Given the description of an element on the screen output the (x, y) to click on. 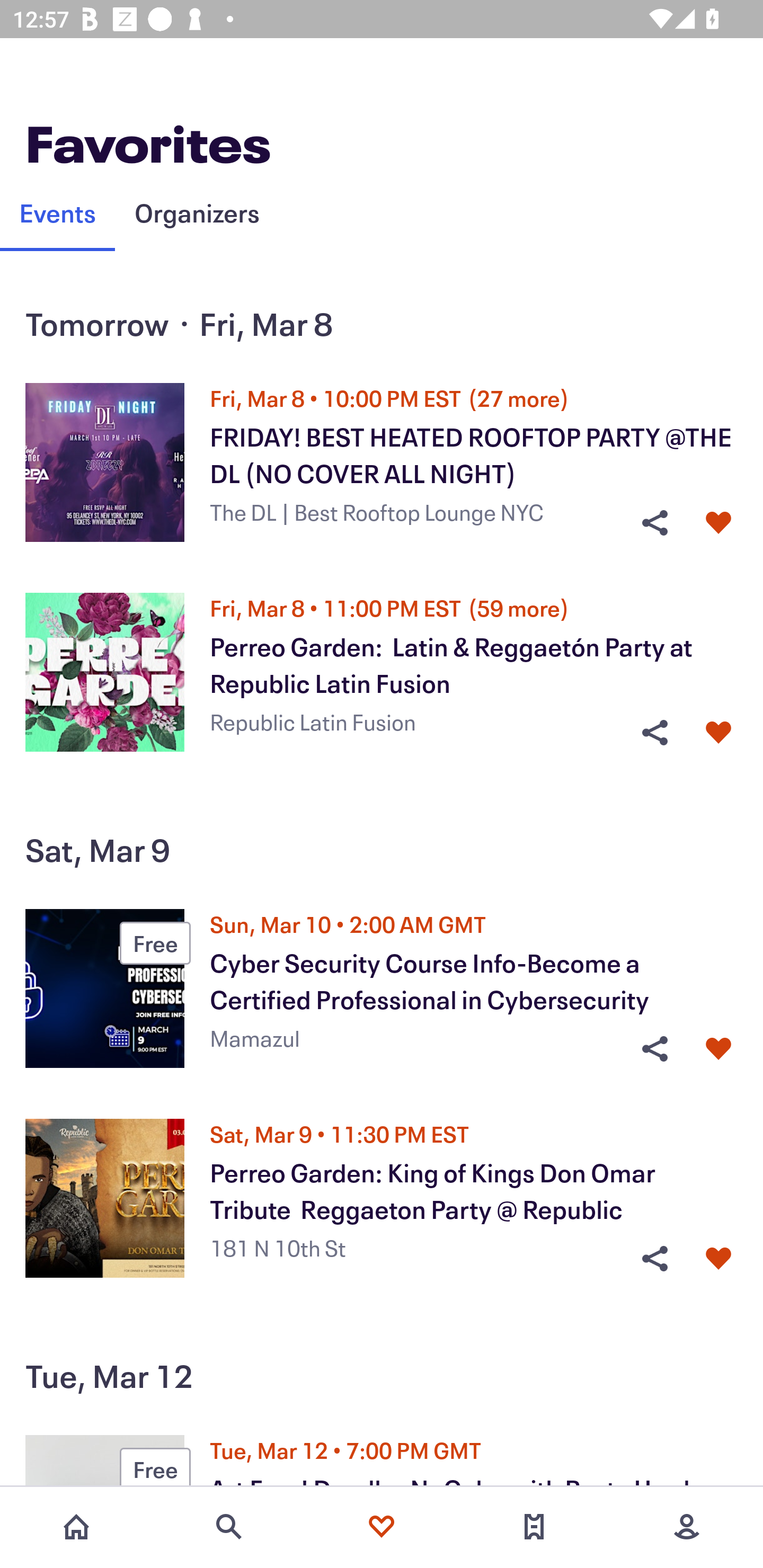
Organizers (196, 212)
Share Event (654, 522)
Unlike event (718, 522)
Share Event (654, 732)
Unlike event (718, 732)
Share Event (654, 1048)
Unlike event (718, 1048)
Share Event (654, 1258)
Unlike event (718, 1258)
Home (76, 1526)
Search events (228, 1526)
Favorites (381, 1526)
Tickets (533, 1526)
More (686, 1526)
